Given the description of an element on the screen output the (x, y) to click on. 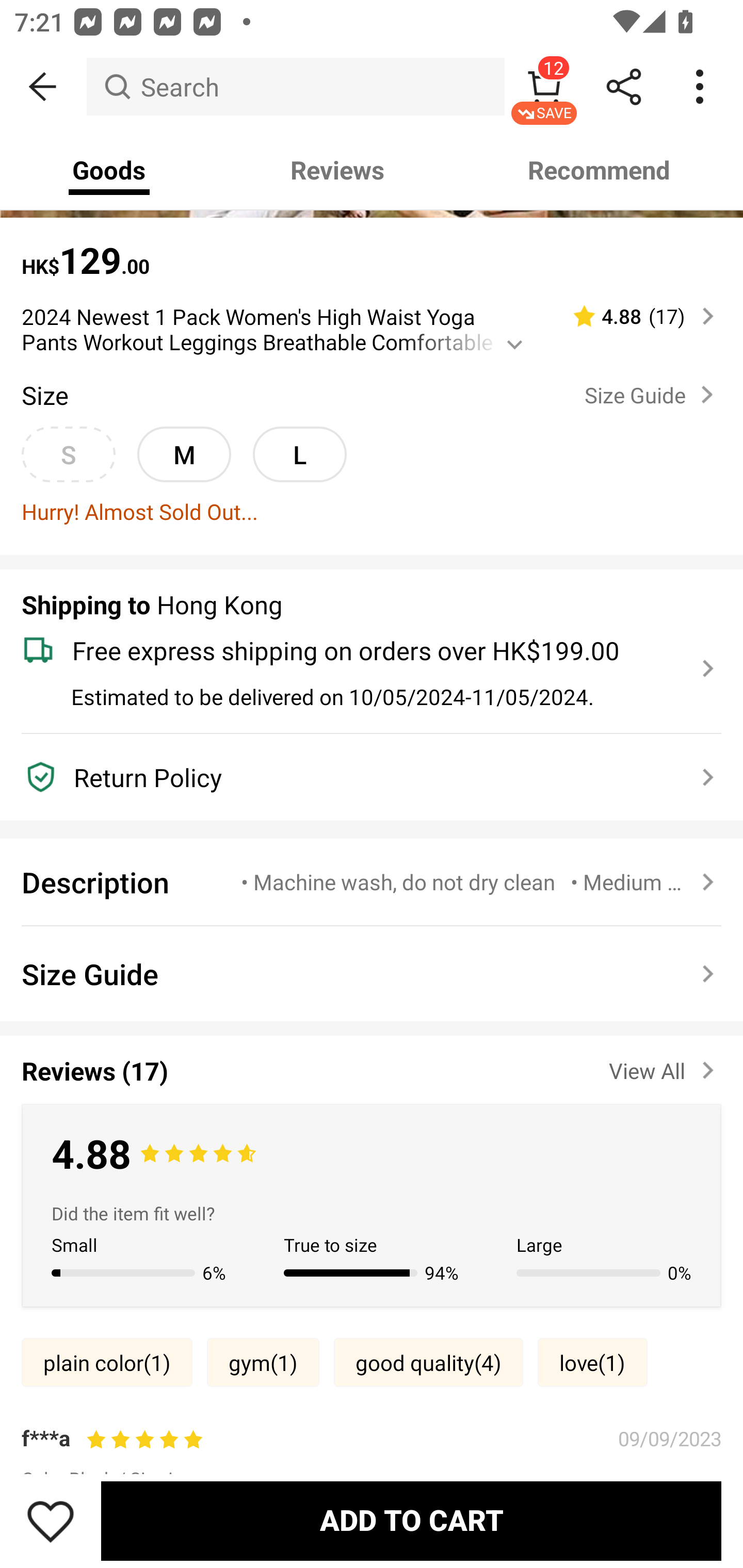
BACK (43, 86)
12 SAVE (543, 87)
Search (295, 87)
Goods (109, 170)
Reviews (337, 170)
Recommend (599, 170)
HK$129.00 (371, 250)
4.88 (17) (635, 315)
Size (44, 394)
Size Guide (652, 394)
S (68, 454)
M Munselected option (184, 454)
L Lunselected option (299, 454)
Hurry! Almost Sold Out... (371, 511)
Return Policy (359, 776)
Size Guide (371, 973)
View All (664, 1067)
plain color(1) (106, 1362)
gym(1) (262, 1362)
good quality(4) (428, 1362)
love(1) (592, 1362)
ADD TO CART (411, 1520)
Save (50, 1520)
